Given the description of an element on the screen output the (x, y) to click on. 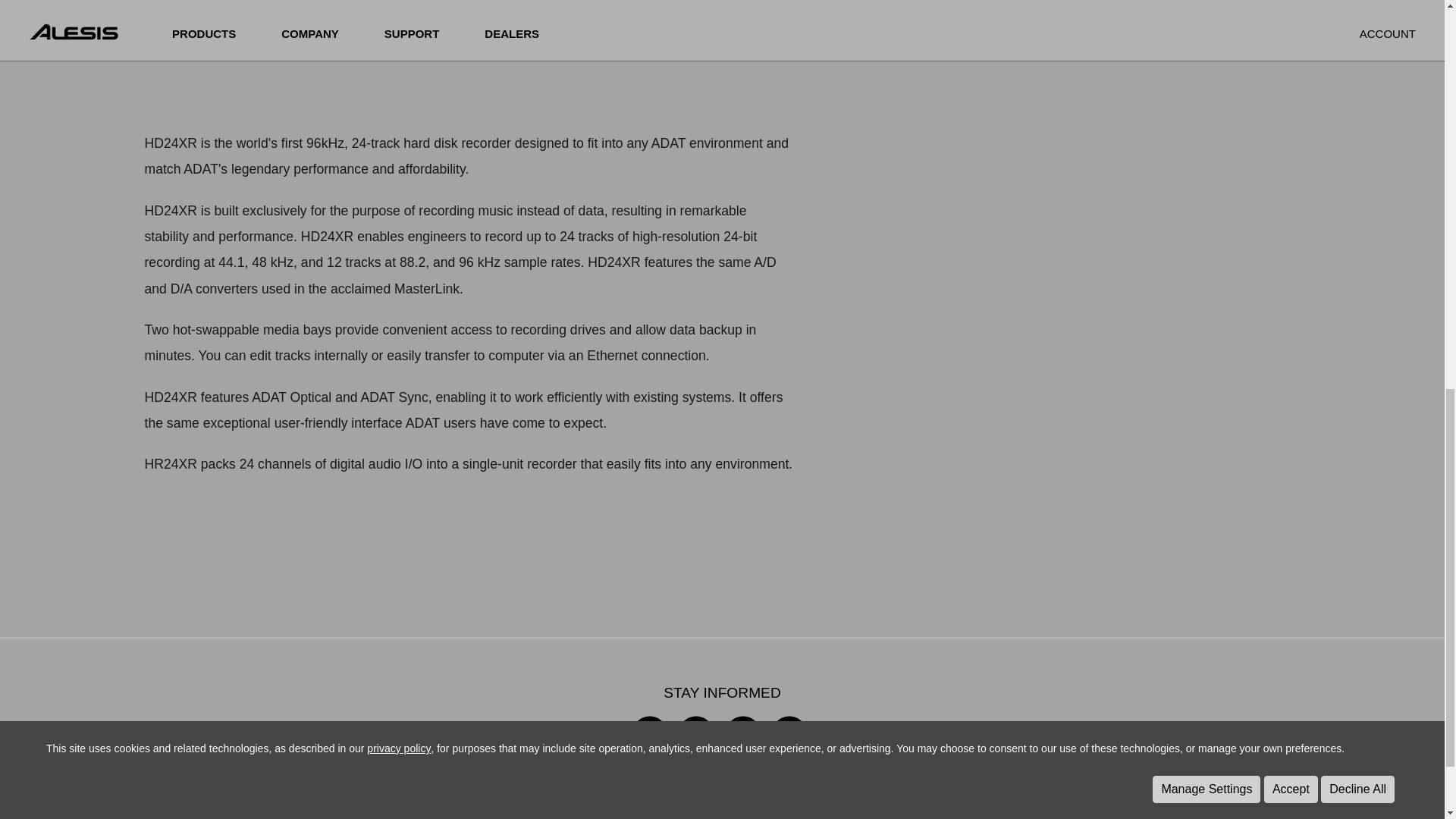
YouTube (789, 748)
X (695, 748)
Instagram (649, 748)
Facebook (742, 748)
